Given the description of an element on the screen output the (x, y) to click on. 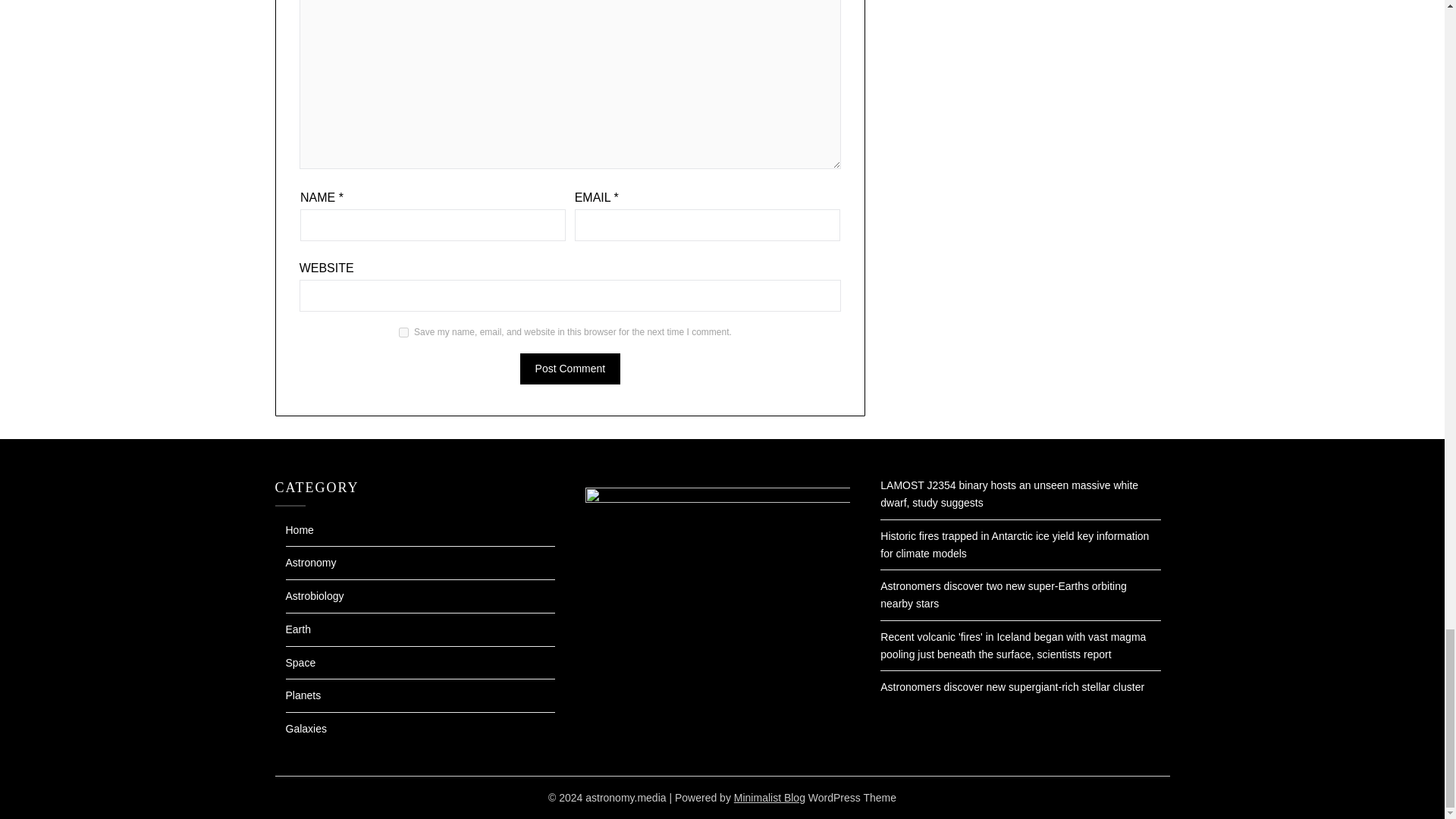
Post Comment (570, 368)
yes (403, 332)
Post Comment (570, 368)
